Given the description of an element on the screen output the (x, y) to click on. 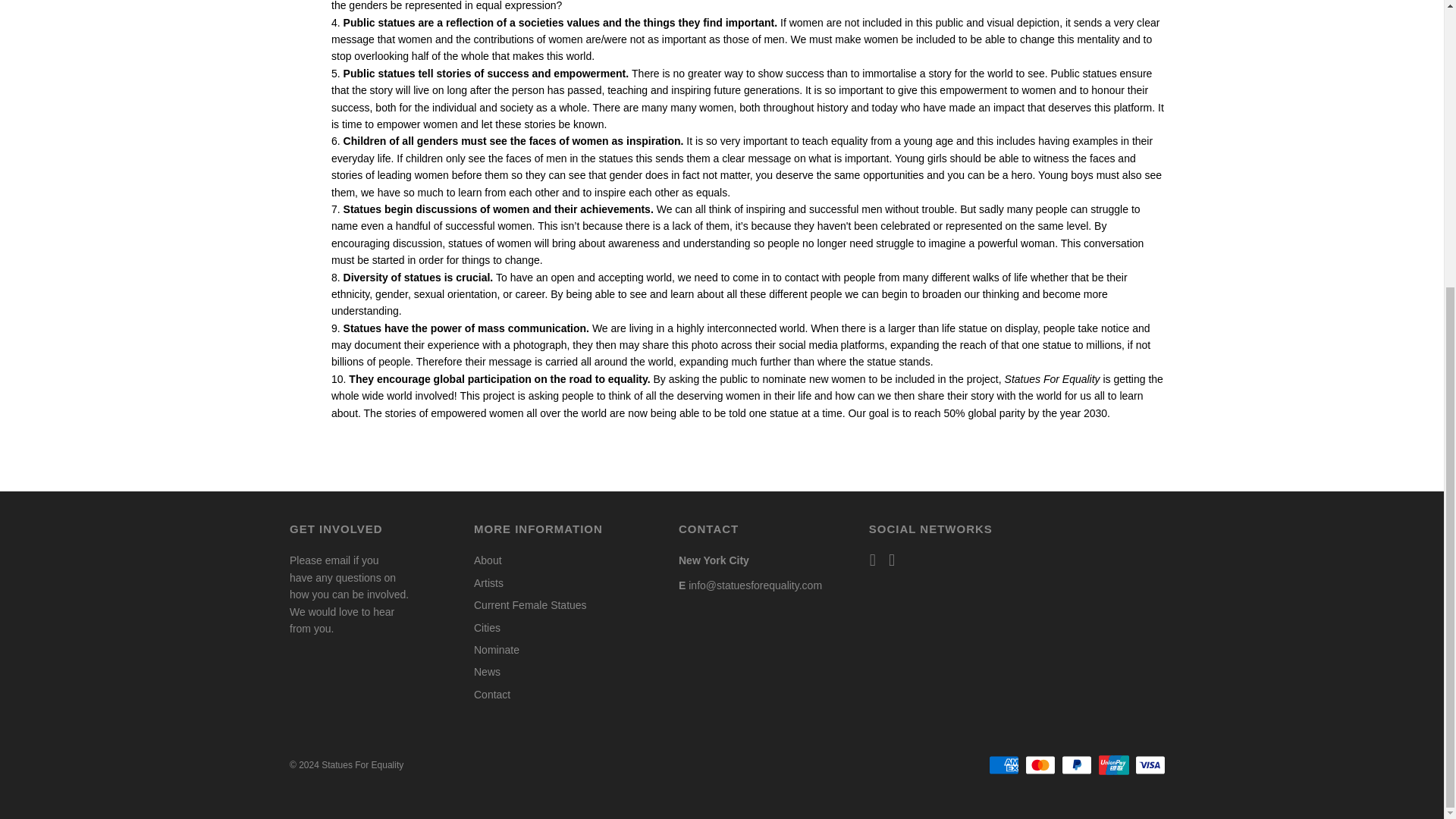
Mastercard (1040, 764)
Visa (1150, 764)
Union Pay (1114, 764)
PayPal (1076, 764)
American Express (1003, 764)
